Given the description of an element on the screen output the (x, y) to click on. 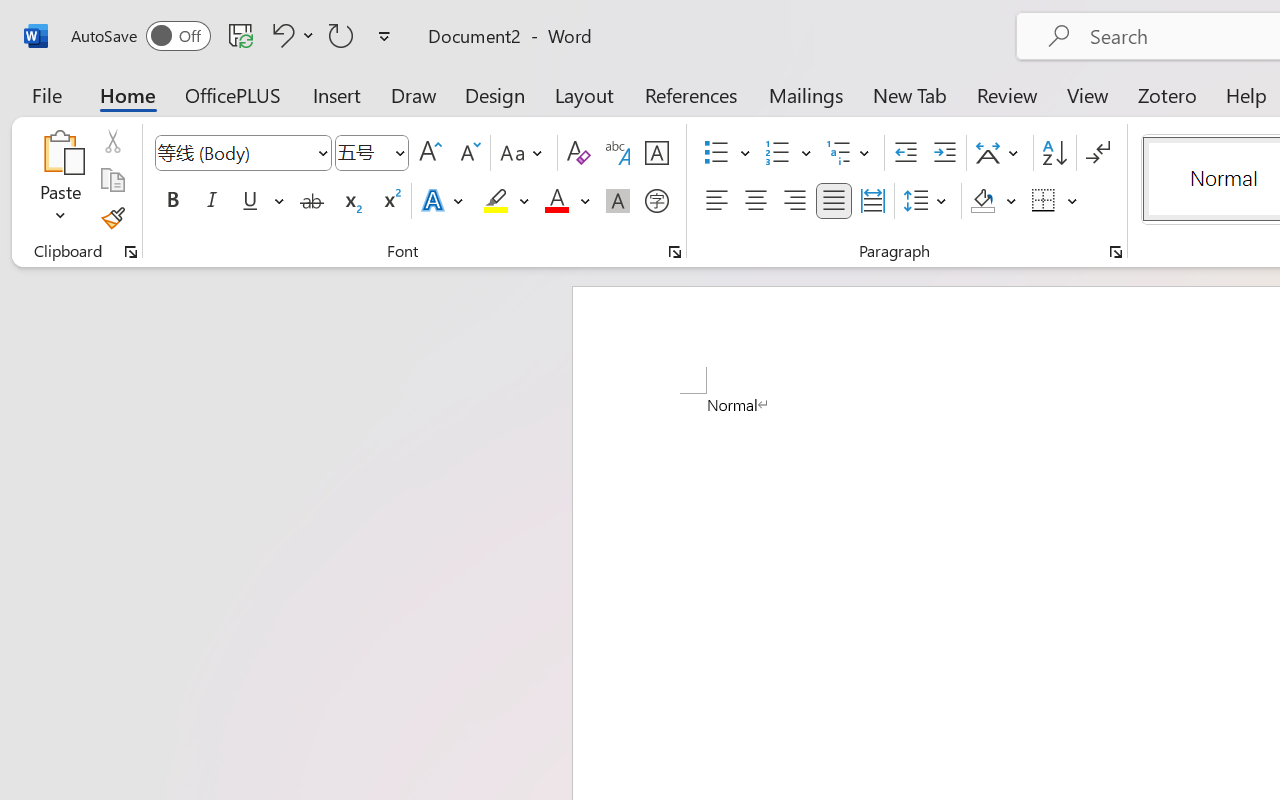
Cut (112, 141)
Clear Formatting (578, 153)
Open (399, 152)
AutoSave (140, 35)
Borders (1044, 201)
Font (242, 153)
View (1087, 94)
Font (234, 152)
Text Highlight Color (506, 201)
Home (127, 94)
New Tab (909, 94)
Line and Paragraph Spacing (927, 201)
Increase Indent (944, 153)
Align Left (716, 201)
